Given the description of an element on the screen output the (x, y) to click on. 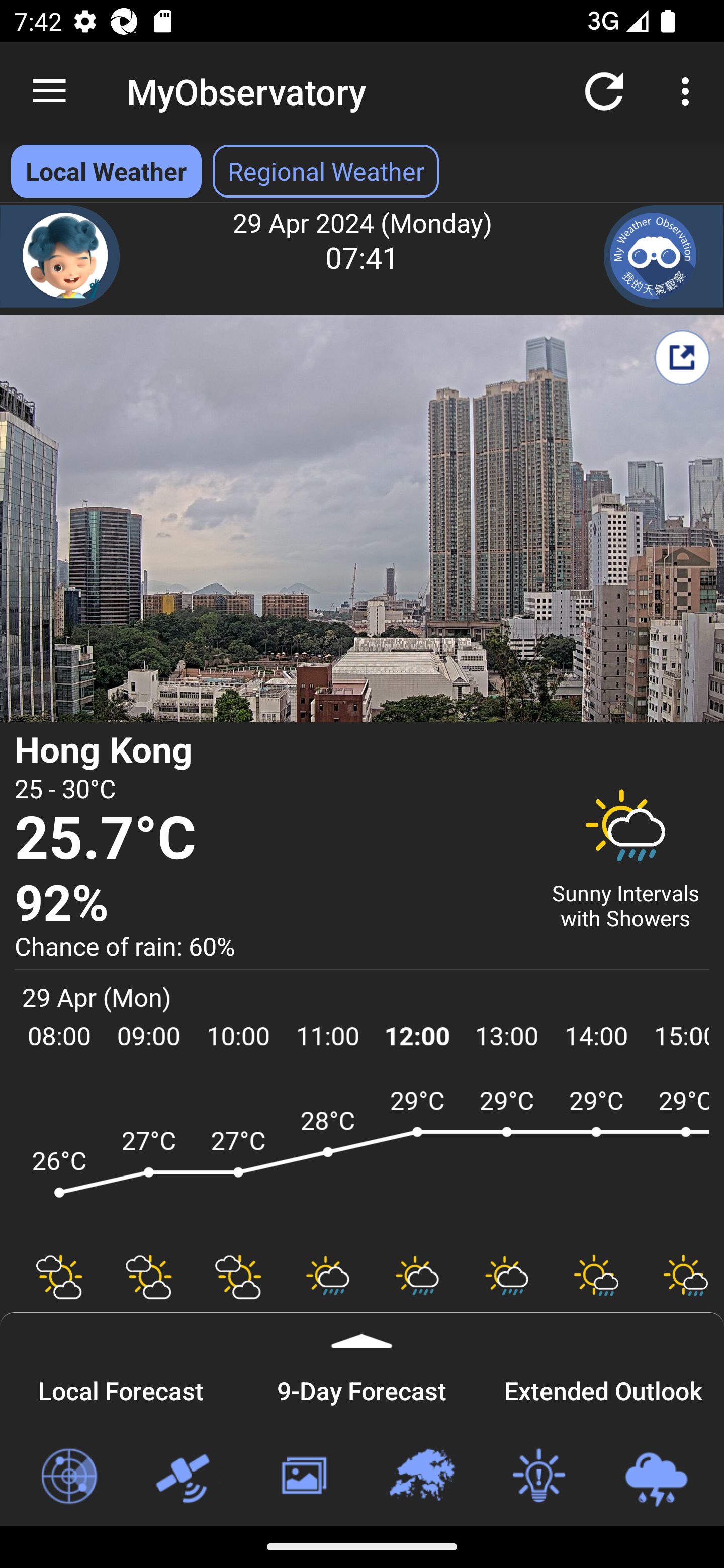
Navigate up (49, 91)
Refresh (604, 90)
More options (688, 90)
Local Weather Local Weather selected (105, 170)
Regional Weather Select Regional Weather (325, 170)
Chatbot (60, 256)
My Weather Observation (663, 256)
Share My Weather Report (681, 357)
25.7°C Temperature
25.7 degree Celsius (270, 839)
92% Relative Humidity
92 percent (270, 903)
ARWF (361, 1160)
Expand (362, 1330)
Local Forecast (120, 1387)
Extended Outlook (603, 1387)
Radar Images (68, 1476)
Satellite Images (185, 1476)
Weather Photos (302, 1476)
Regional Weather (420, 1476)
Weather Tips (537, 1476)
Loc-based Rain & Lightning Forecast (655, 1476)
